Given the description of an element on the screen output the (x, y) to click on. 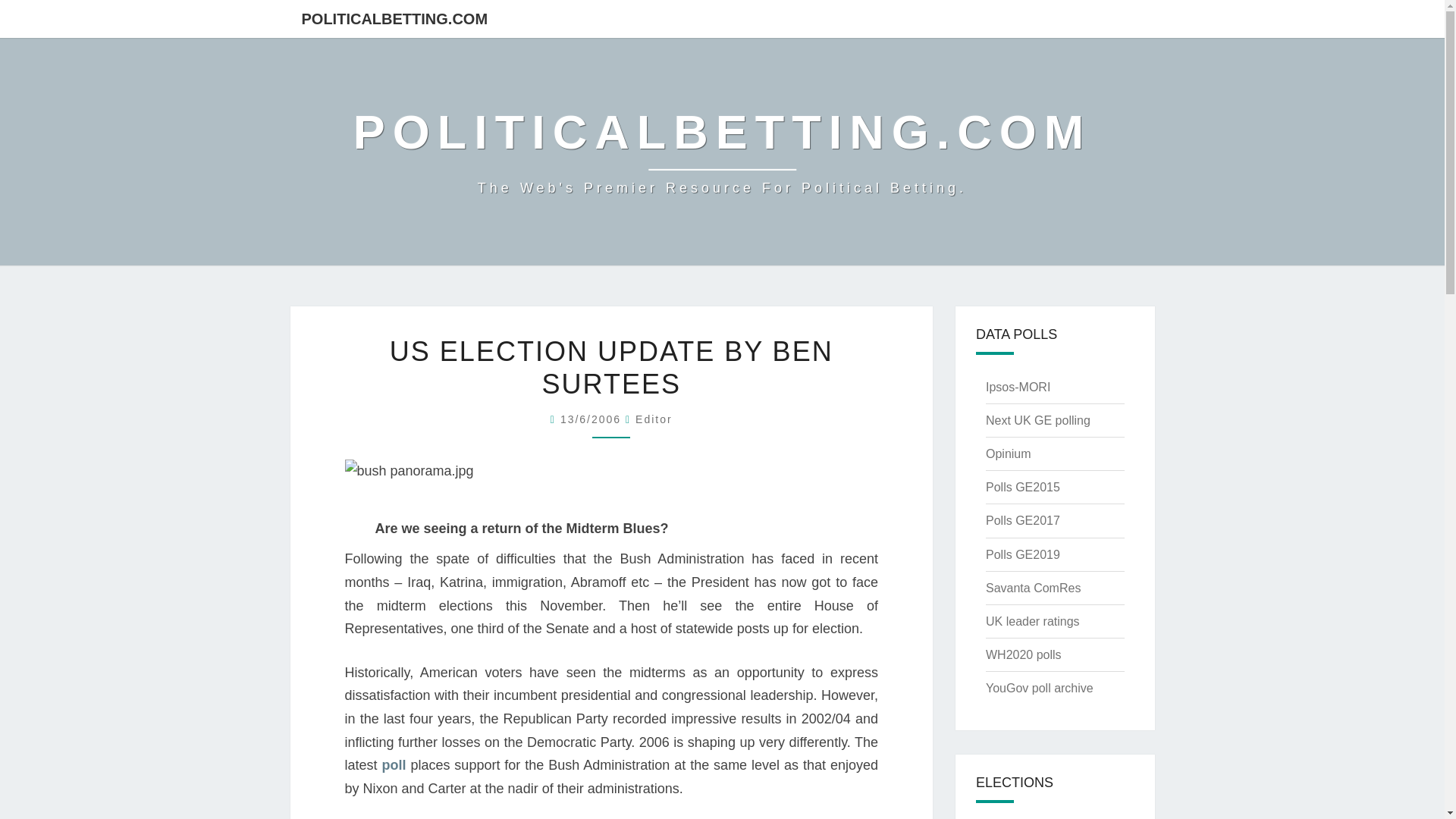
YouGov poll archive (1039, 687)
Polls GE2017 (1022, 520)
POLITICALBETTING.COM (394, 18)
Editor (653, 419)
Ipsos-MORI (1017, 386)
politicalbetting.com (721, 151)
Next UK GE polling (1037, 420)
UK leader ratings (1032, 621)
Polls GE2019 (1022, 554)
WH2020 polls (1023, 654)
